Given the description of an element on the screen output the (x, y) to click on. 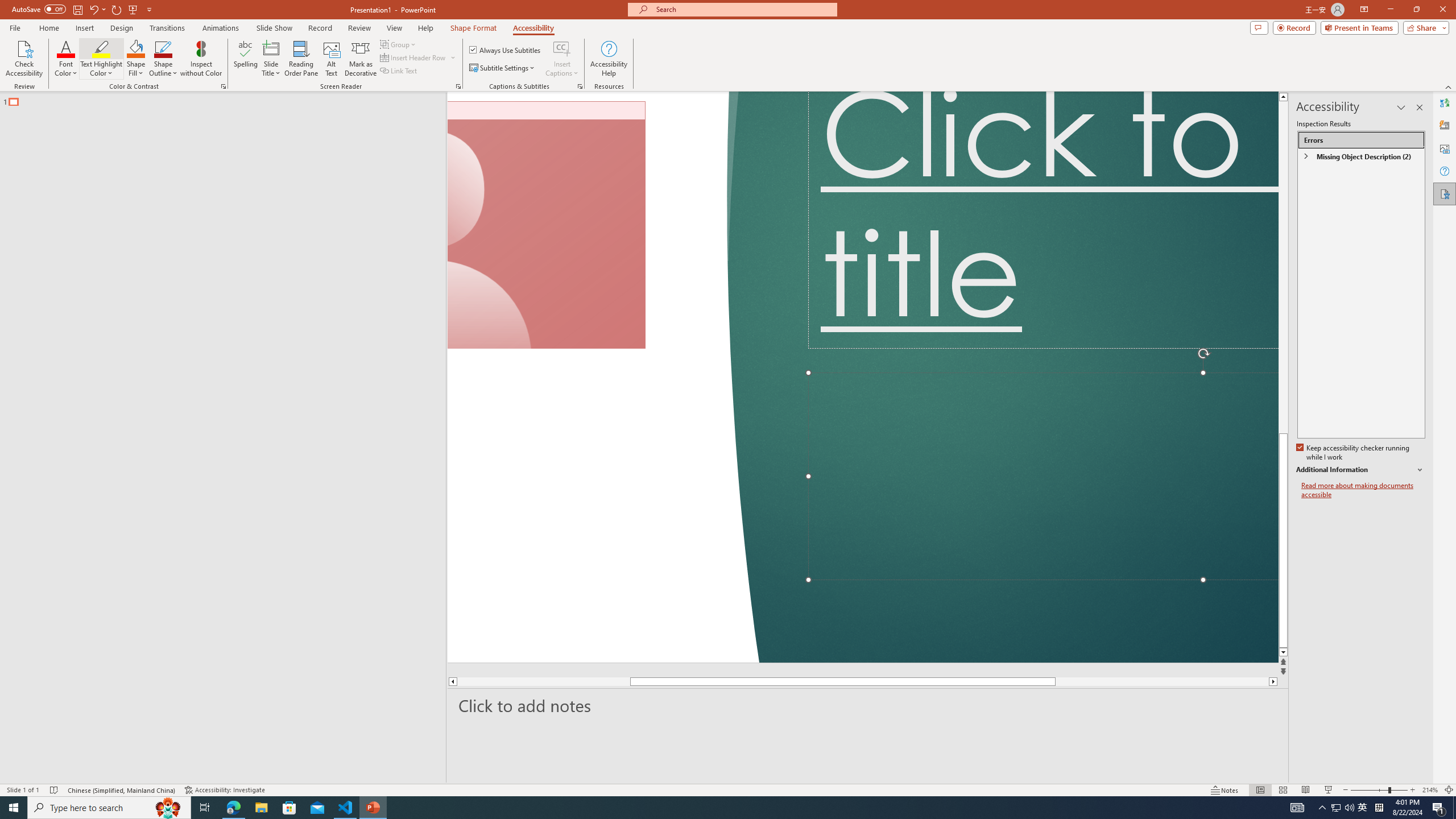
Decorative Locked (602, 376)
Subtitle Settings (502, 67)
